Given the description of an element on the screen output the (x, y) to click on. 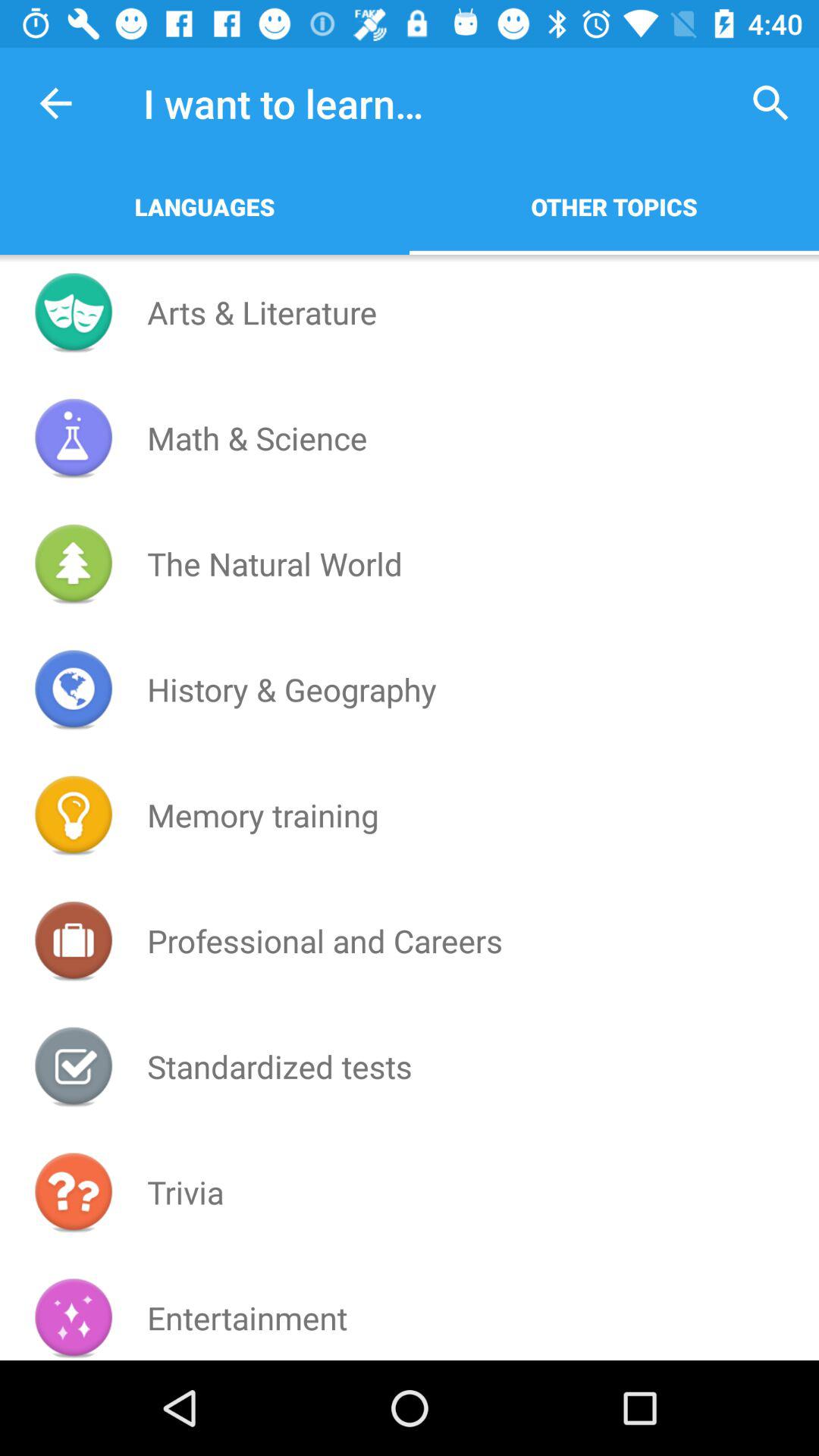
open item next to i want to item (55, 103)
